Given the description of an element on the screen output the (x, y) to click on. 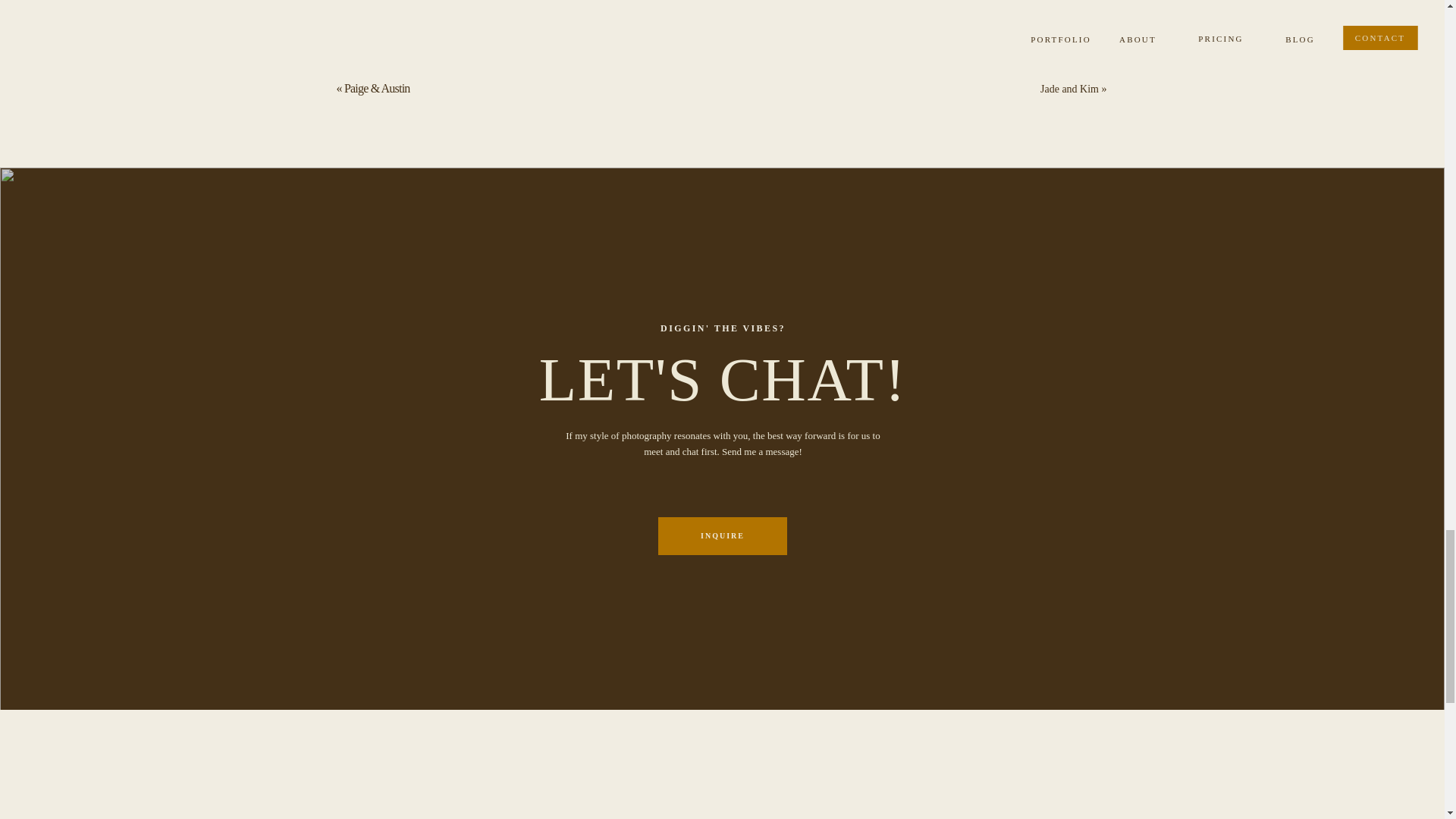
INQUIRE (722, 535)
Jade and Kim (1070, 89)
